Given the description of an element on the screen output the (x, y) to click on. 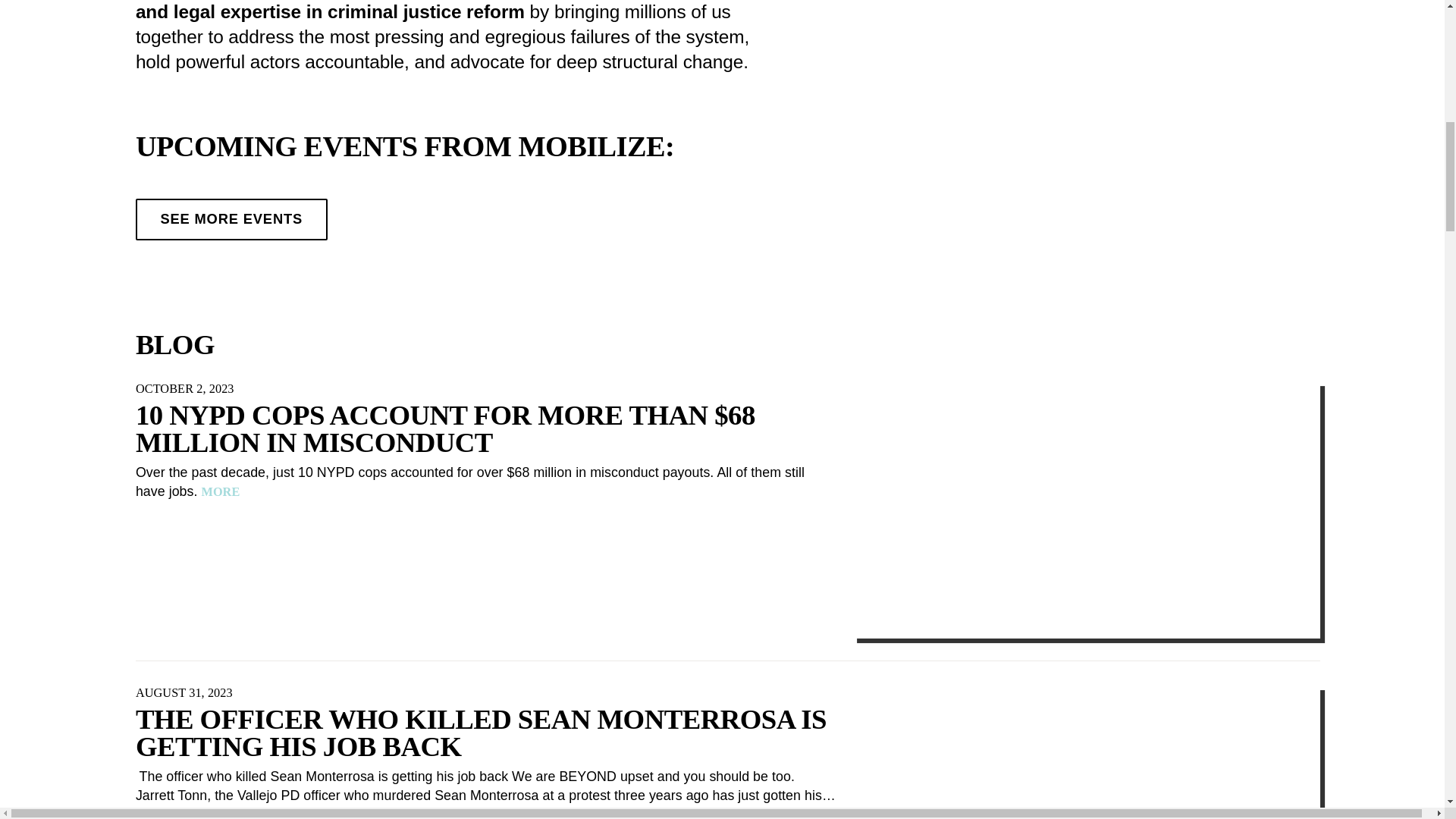
MORE (221, 492)
SEE MORE EVENTS (231, 219)
MORE (154, 812)
